Given the description of an element on the screen output the (x, y) to click on. 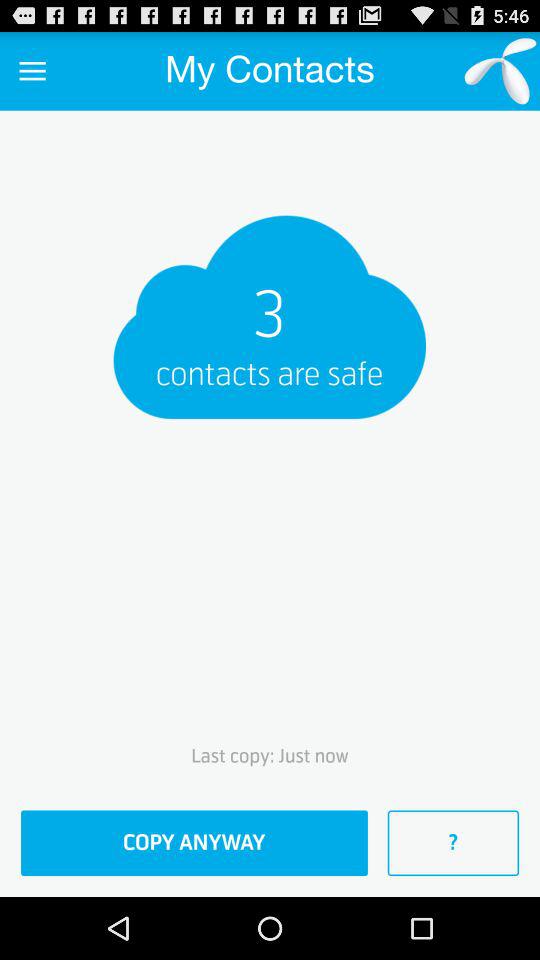
click the icon next to copy anyway item (453, 843)
